Given the description of an element on the screen output the (x, y) to click on. 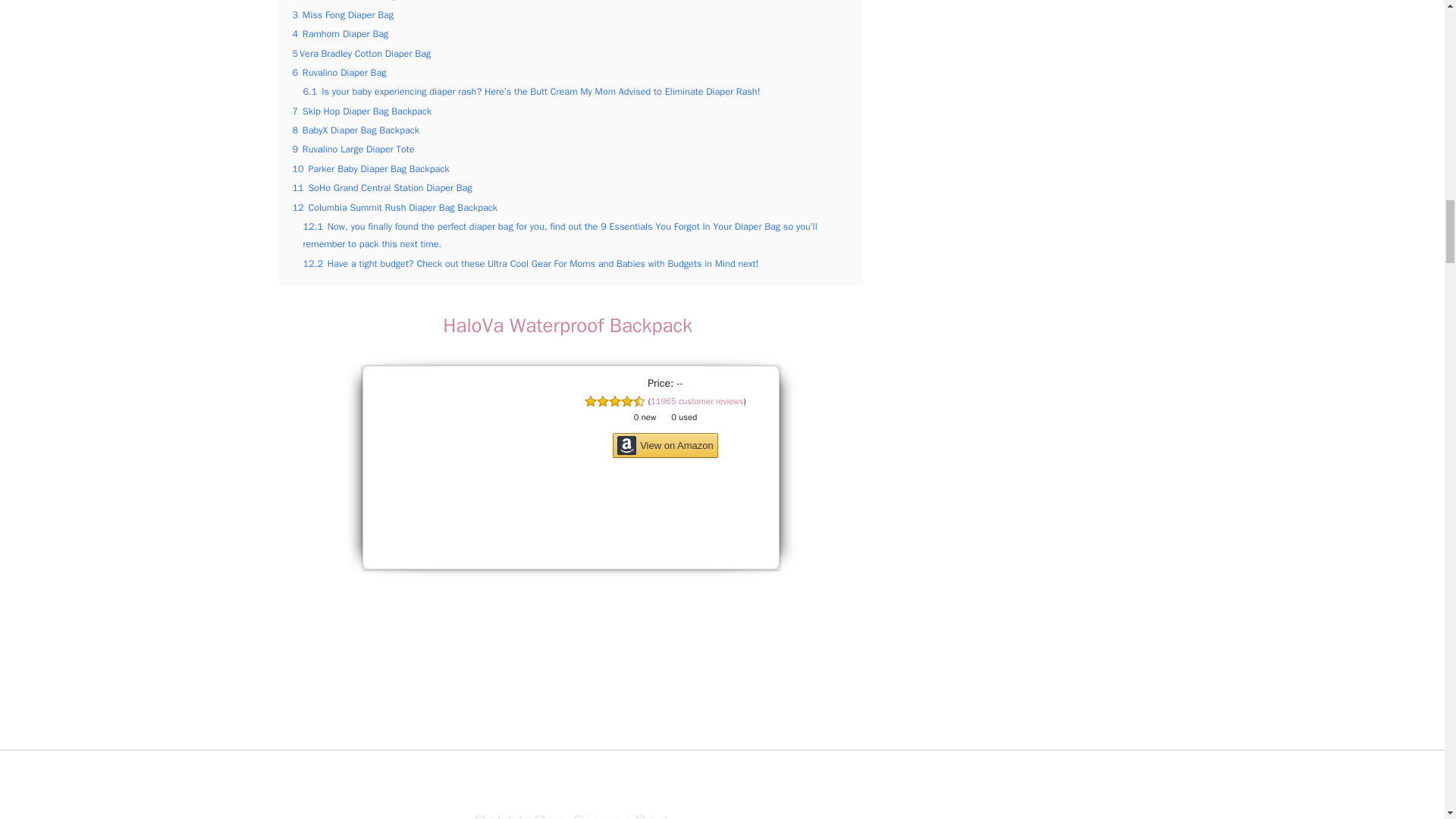
2 BabbleRoo Diaper Bag (344, 0)
